Given the description of an element on the screen output the (x, y) to click on. 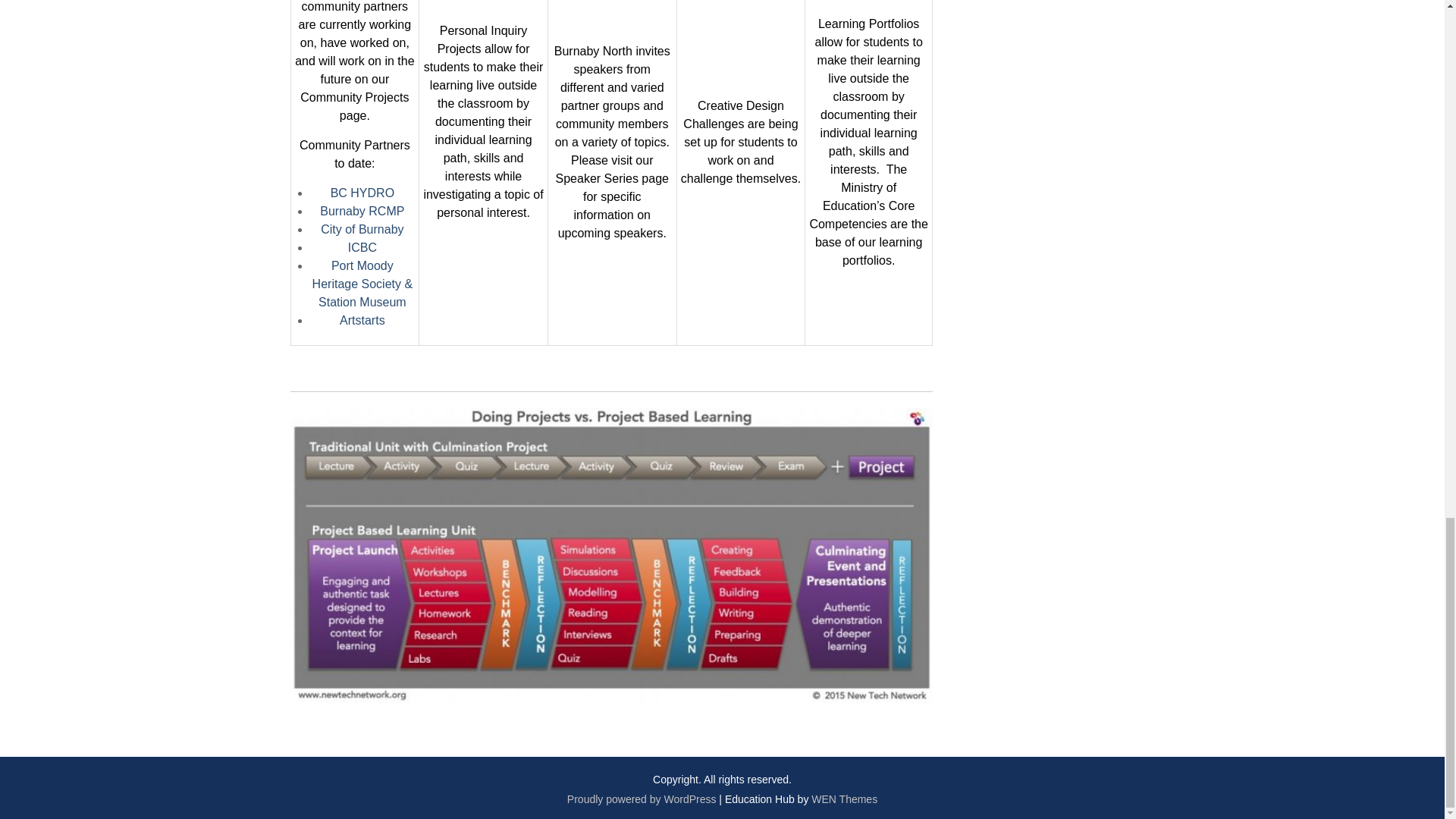
City of Burnaby (361, 228)
Community Projects (354, 97)
Burnaby RCMP (362, 210)
BC HYDRO (362, 192)
